Given the description of an element on the screen output the (x, y) to click on. 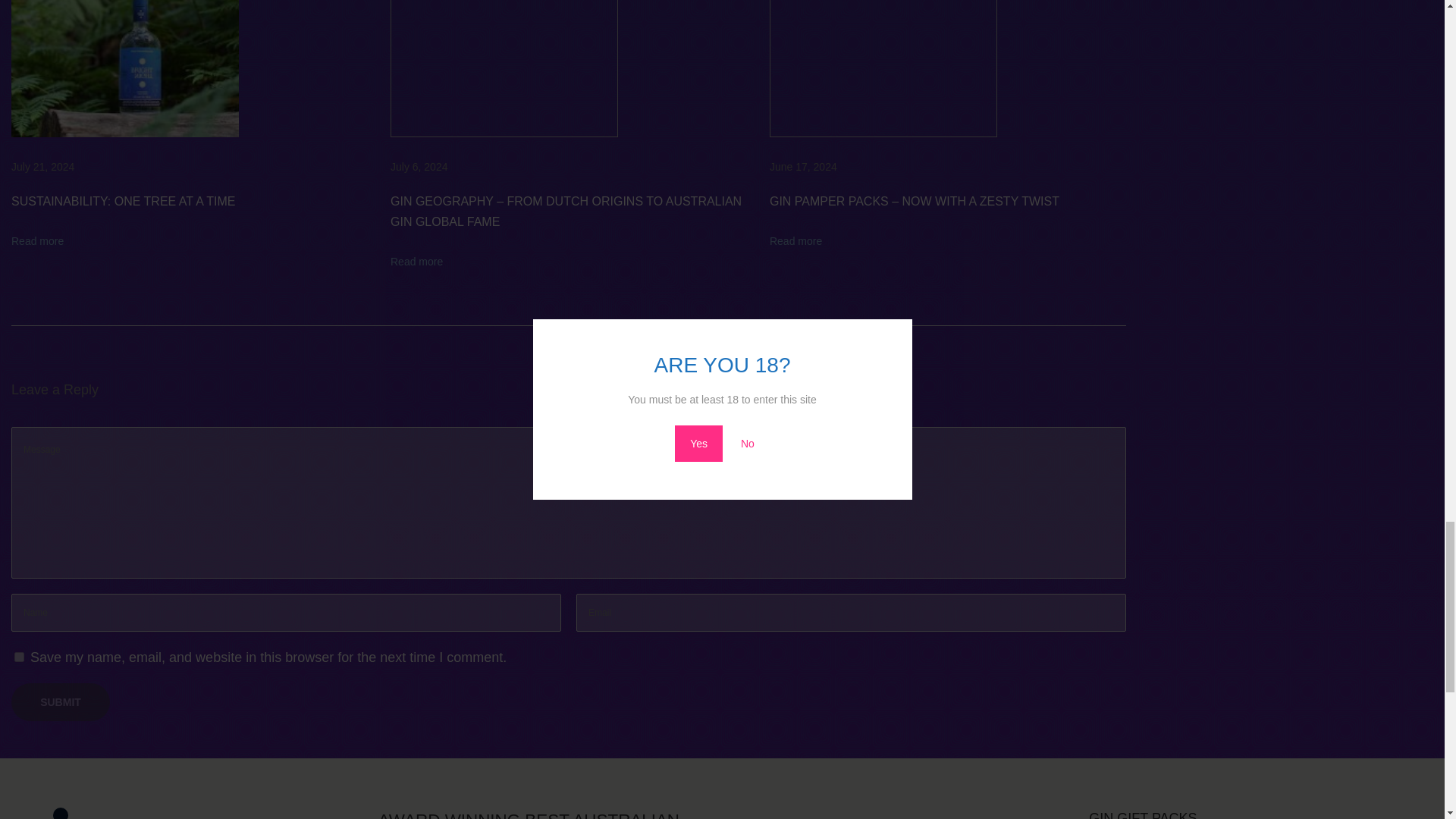
Submit (60, 702)
yes (19, 656)
